Given the description of an element on the screen output the (x, y) to click on. 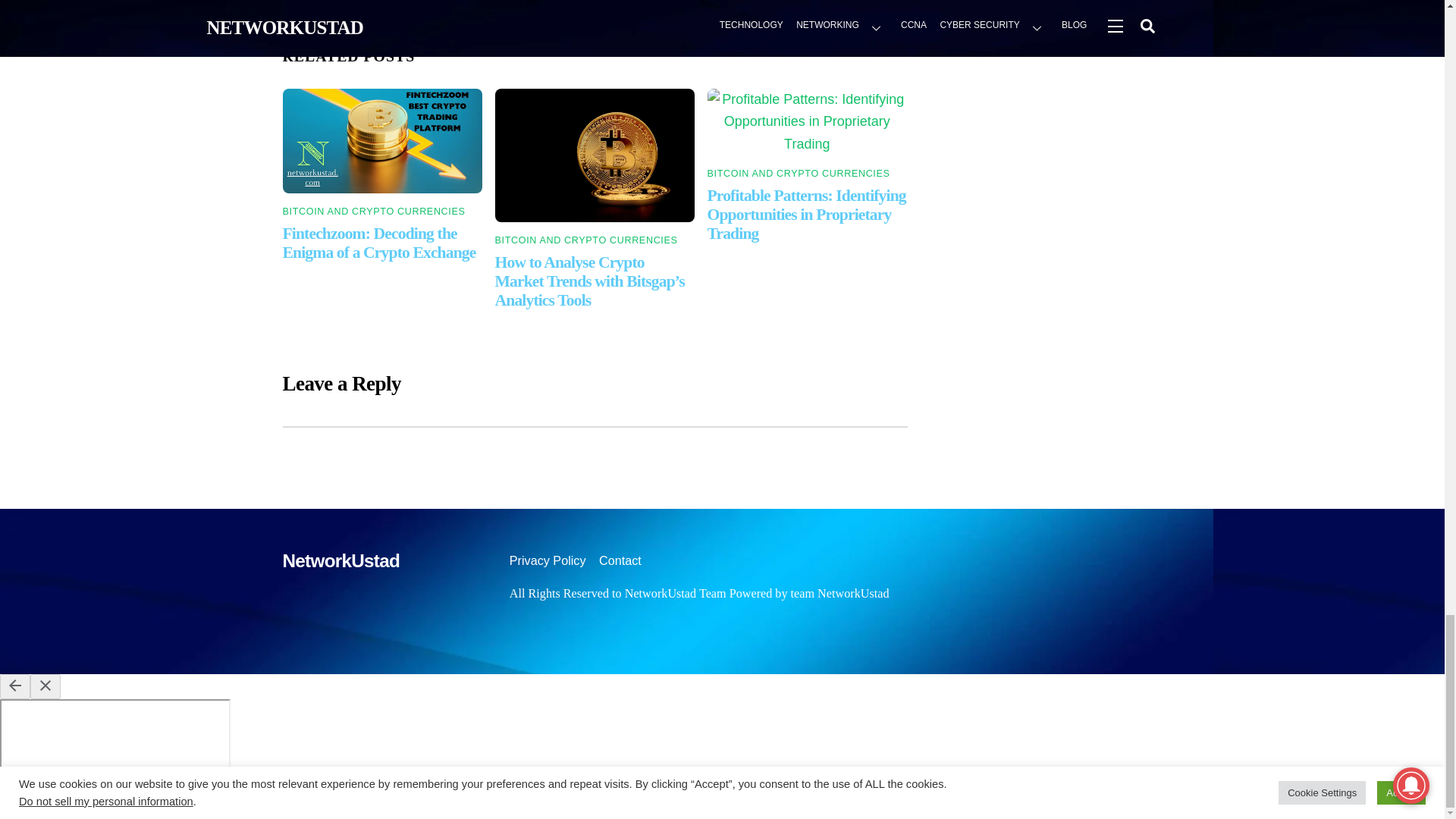
BITCOIN AND CRYPTO CURRENCIES (373, 211)
BITCOIN AND CRYPTO CURRENCIES (586, 240)
BITCOIN AND CRYPTO CURRENCIES (798, 173)
Fintechzoom: Decoding the Enigma of a Crypto Exchange (379, 242)
